Given the description of an element on the screen output the (x, y) to click on. 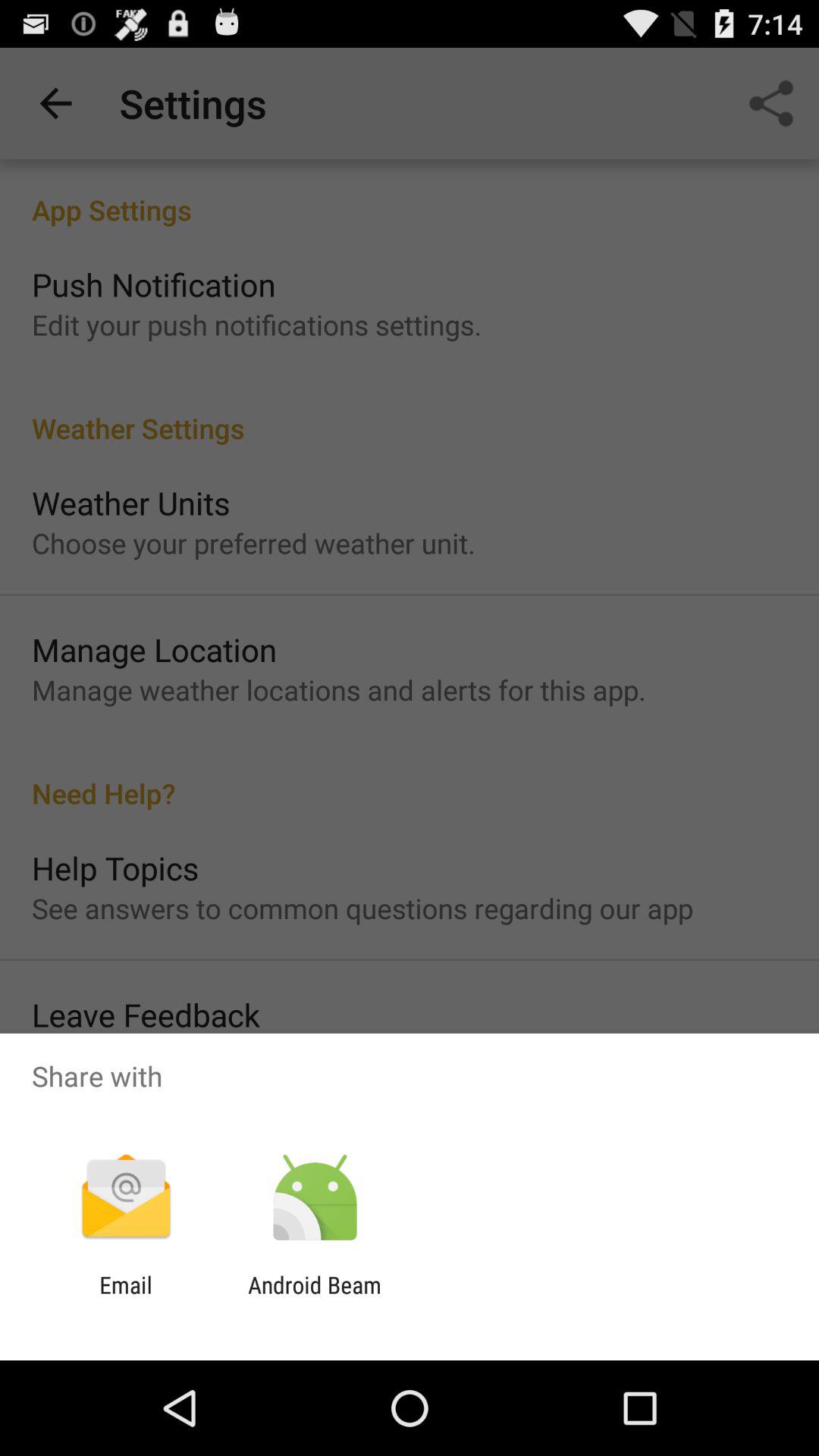
choose the item to the left of android beam app (125, 1298)
